Given the description of an element on the screen output the (x, y) to click on. 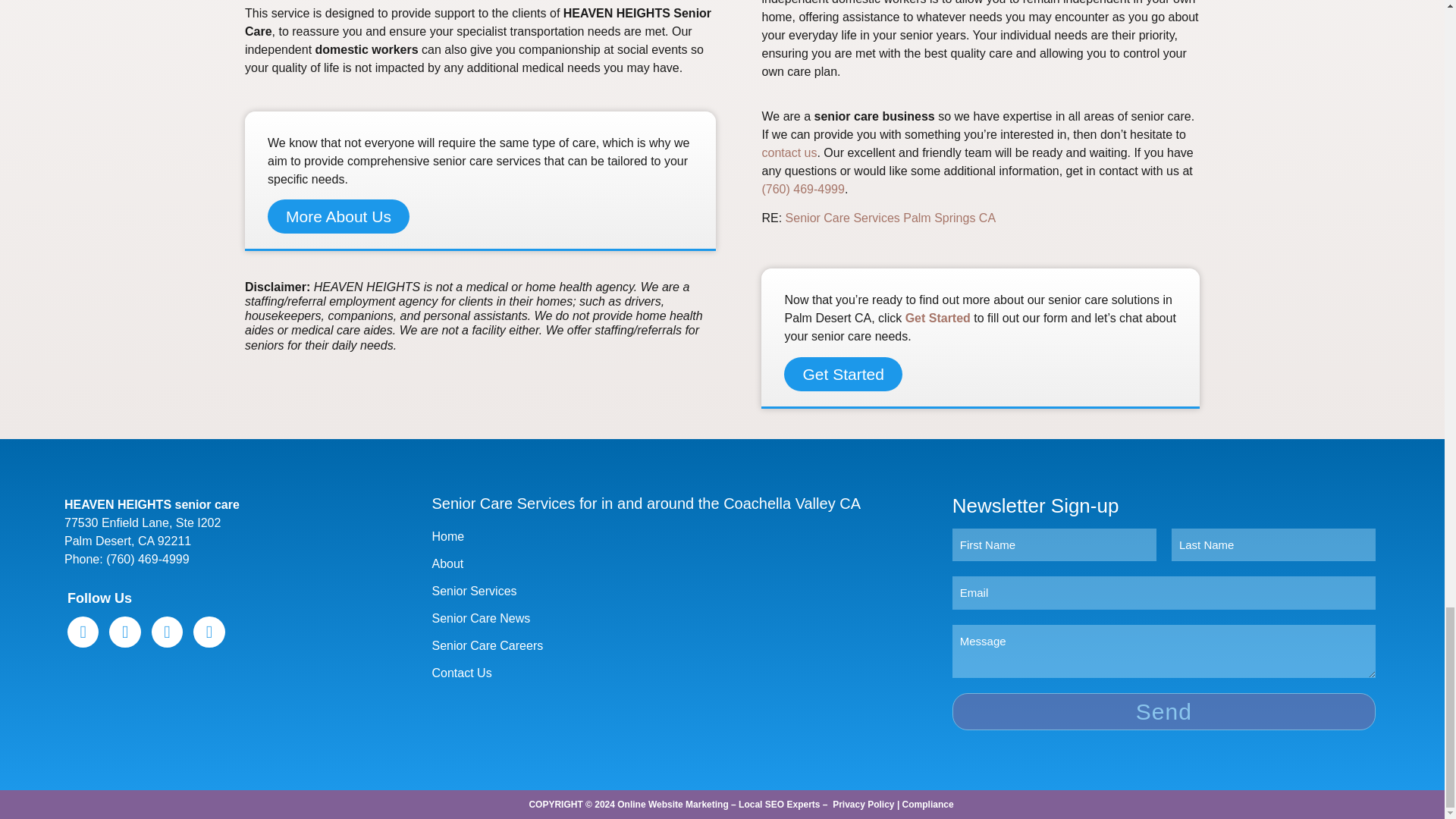
Online Website Marketing - Local SEO Experts (718, 804)
In Home care Services Carlsbad CA (890, 217)
Get Started (842, 374)
Privacy Policy (862, 804)
More About Us (338, 216)
contact us (788, 152)
Compliance (927, 804)
Senior Care Services Palm Springs CA (890, 217)
Get Started (938, 318)
